Given the description of an element on the screen output the (x, y) to click on. 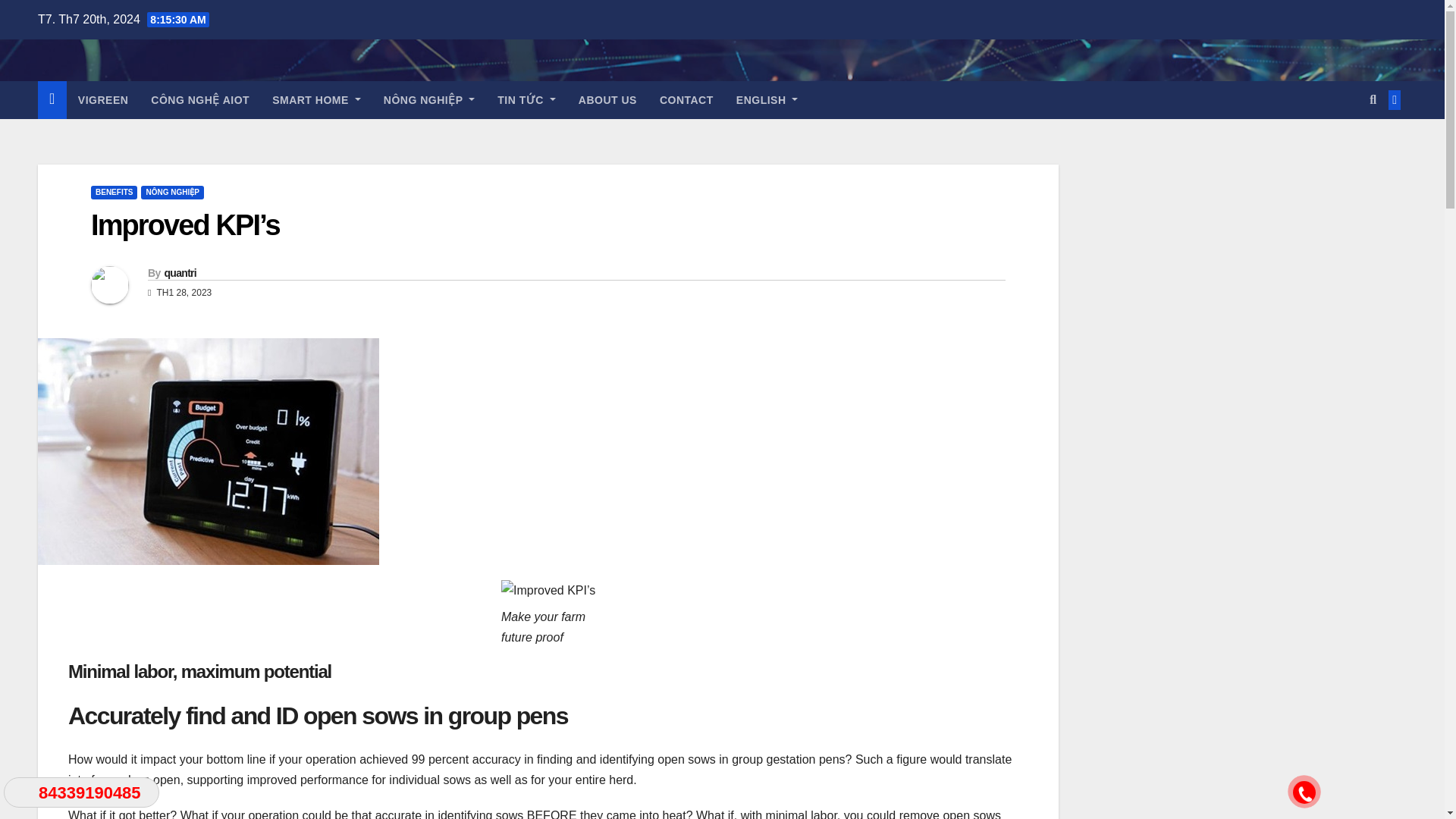
SMART HOME (316, 99)
ENGLISH (767, 99)
ABOUT US (607, 99)
SMART HOME (316, 99)
VIGREEN (102, 99)
CONTACT (686, 99)
VIGREEN (102, 99)
